Given the description of an element on the screen output the (x, y) to click on. 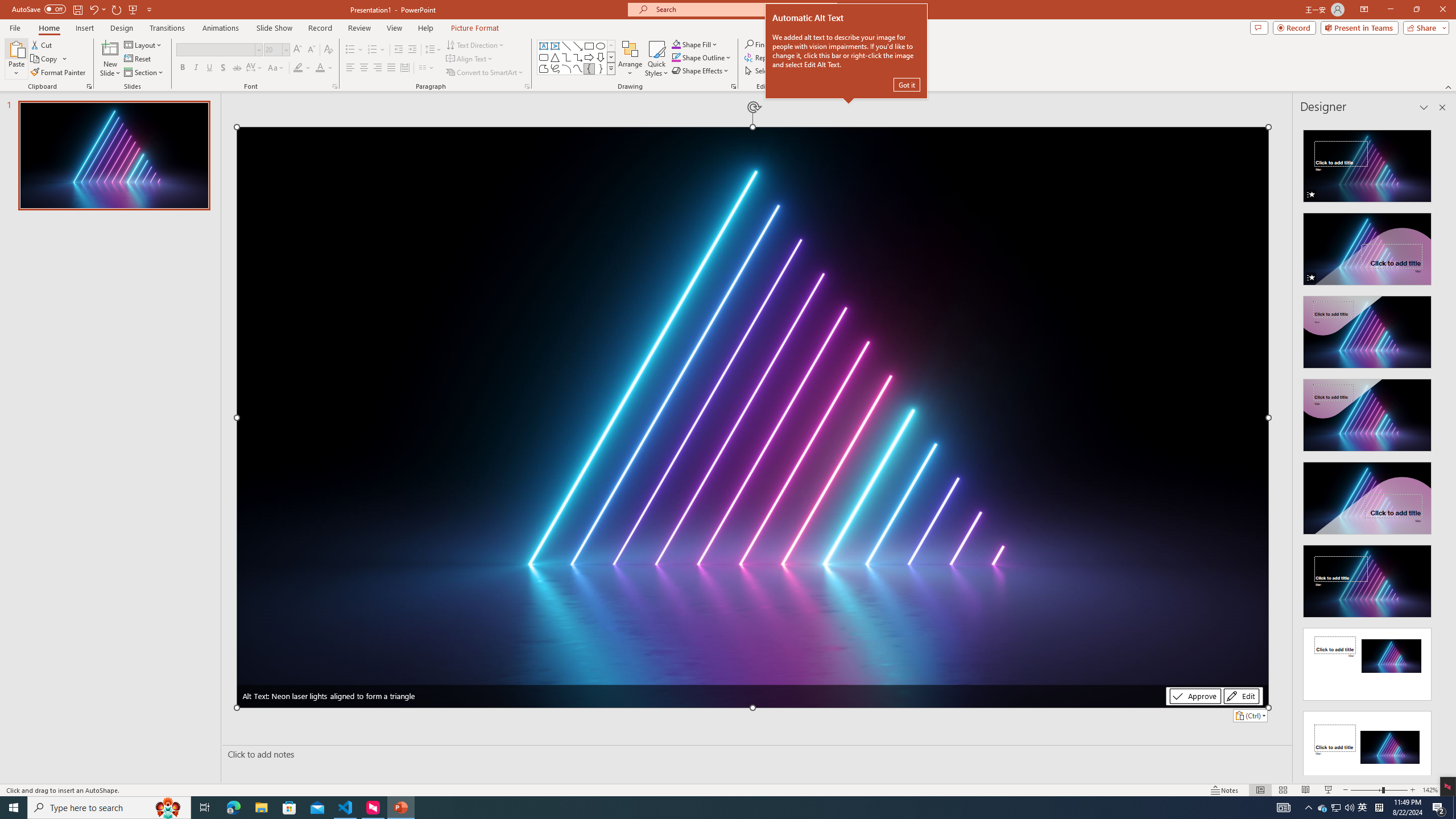
Recommended Design: Animation (1366, 162)
